Given the description of an element on the screen output the (x, y) to click on. 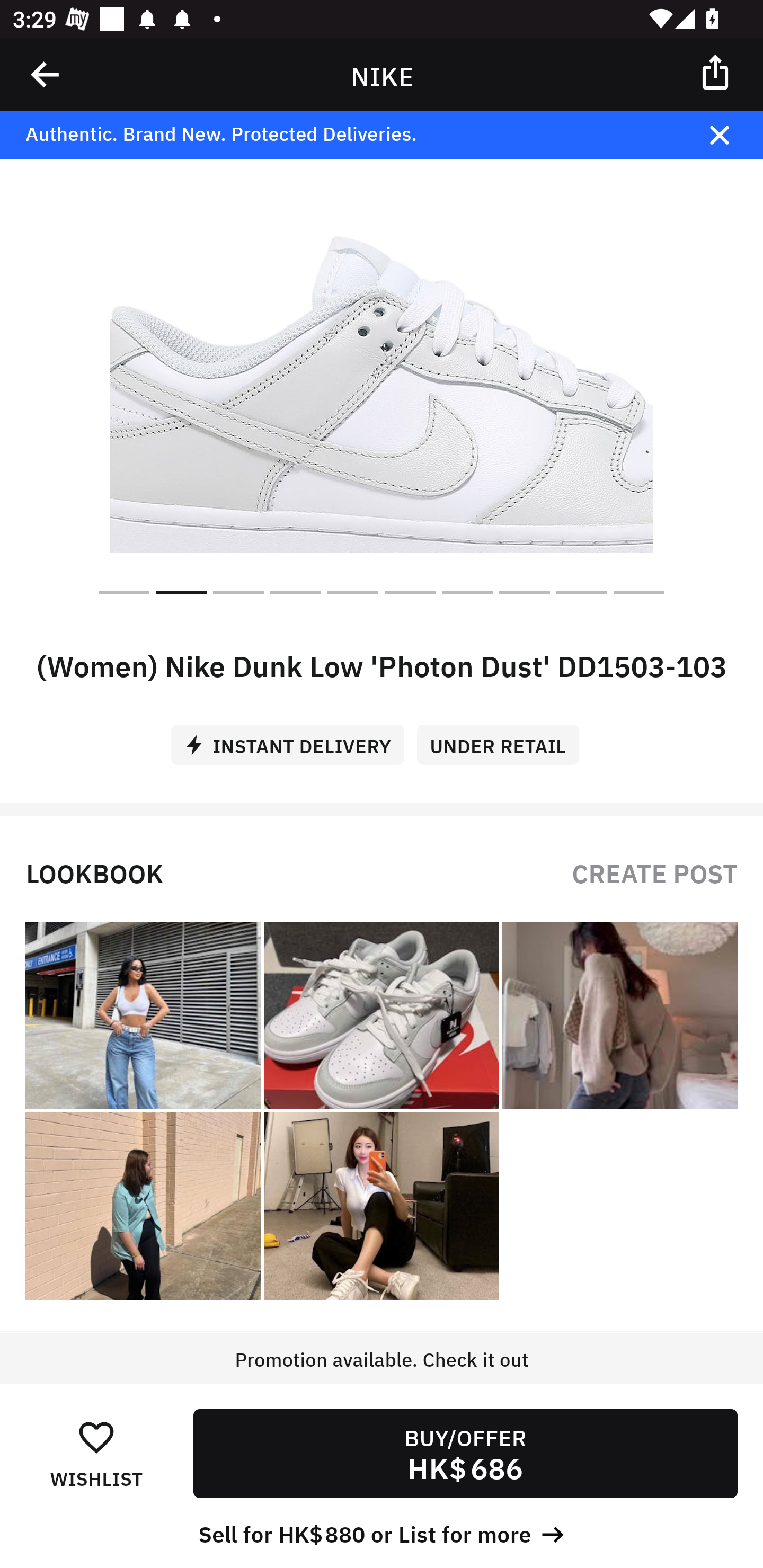
 (46, 74)
 (716, 70)
Authentic. Brand New. Protected Deliveries. (350, 134)
 (732, 134)
 INSTANT DELIVERY (293, 738)
UNDER RETAIL (504, 738)
CREATE POST (654, 872)
Promotion available. Check it out (381, 1377)
BUY/OFFER HK$ 686 (465, 1453)
󰋕 (95, 1435)
Sell for HK$ 880 or List for more (381, 1532)
